Given the description of an element on the screen output the (x, y) to click on. 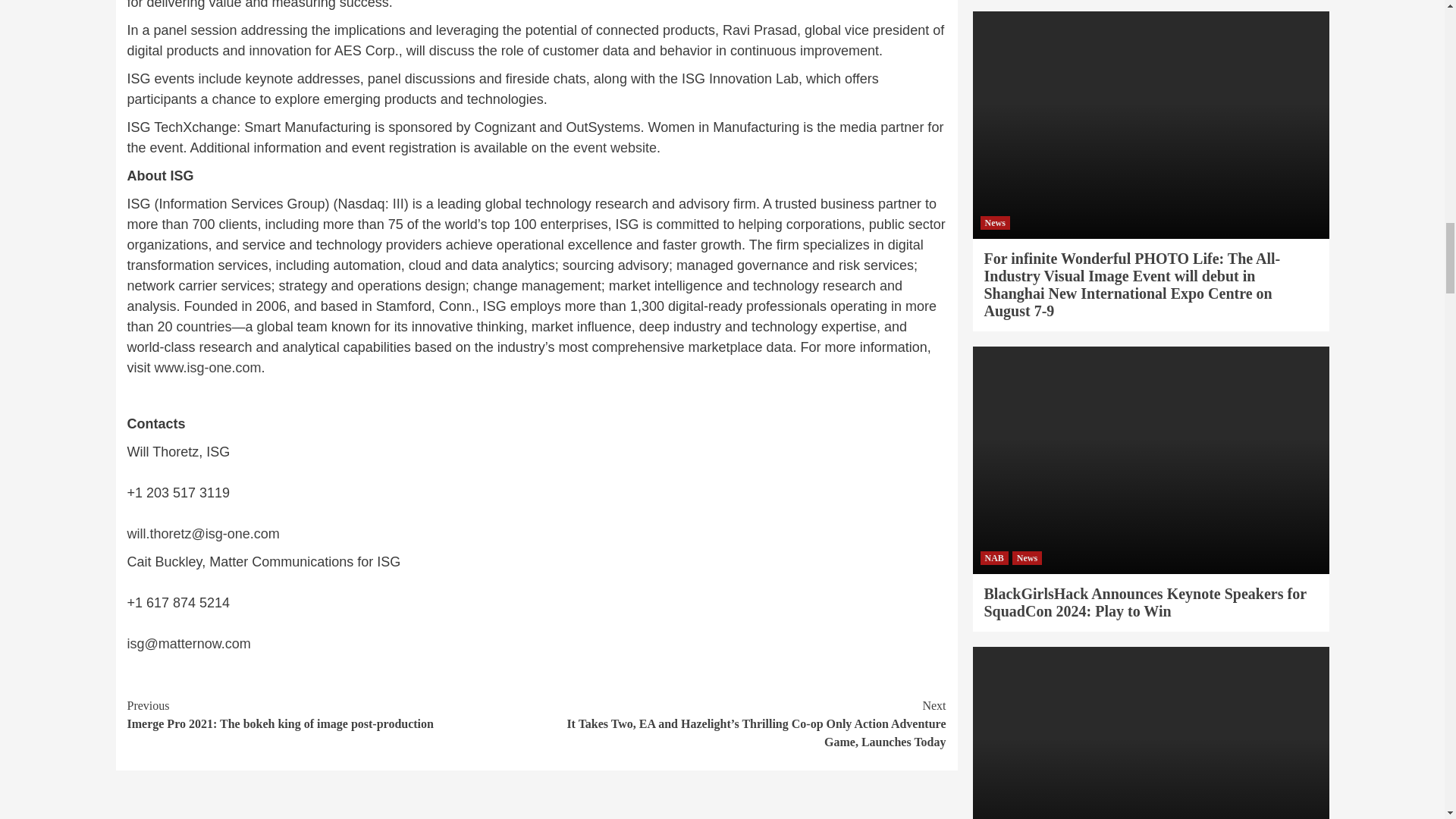
event website (614, 147)
www.isg-one.com (208, 367)
